Given the description of an element on the screen output the (x, y) to click on. 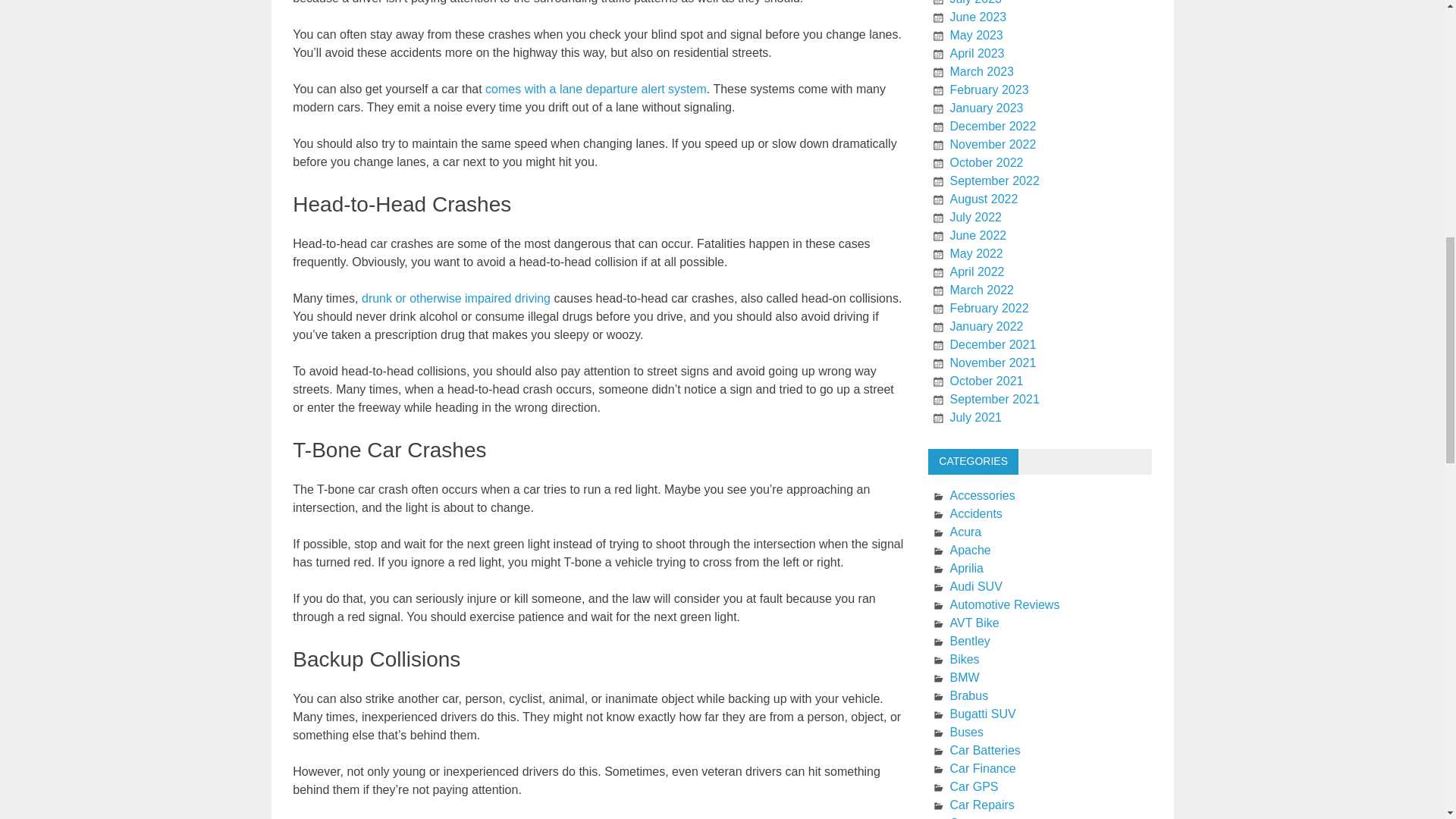
drunk or otherwise impaired driving (455, 297)
comes with a lane departure alert system (595, 88)
